Given the description of an element on the screen output the (x, y) to click on. 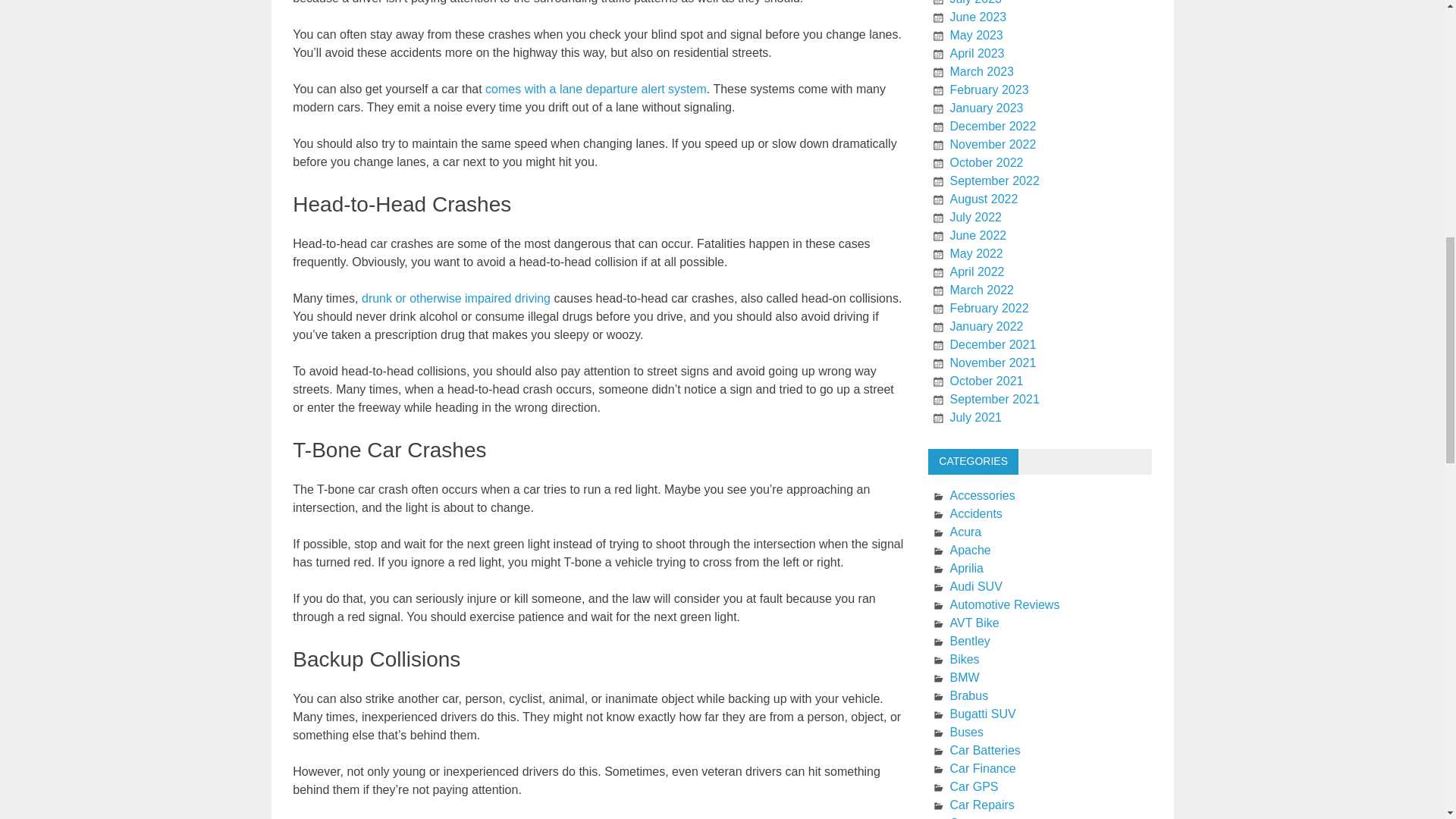
drunk or otherwise impaired driving (455, 297)
comes with a lane departure alert system (595, 88)
